Given the description of an element on the screen output the (x, y) to click on. 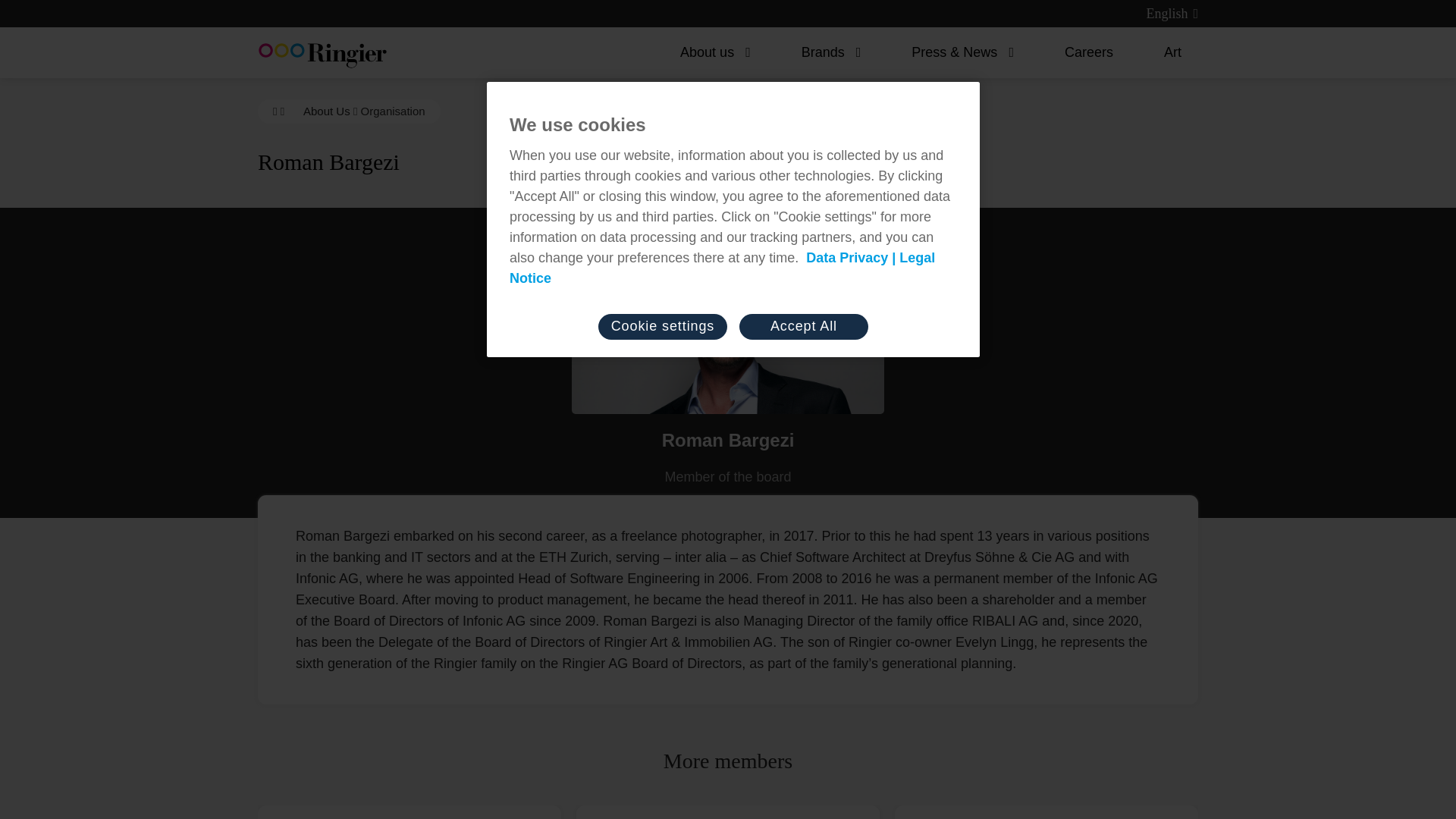
Art (1166, 52)
About Us (326, 110)
Careers (1081, 52)
